Given the description of an element on the screen output the (x, y) to click on. 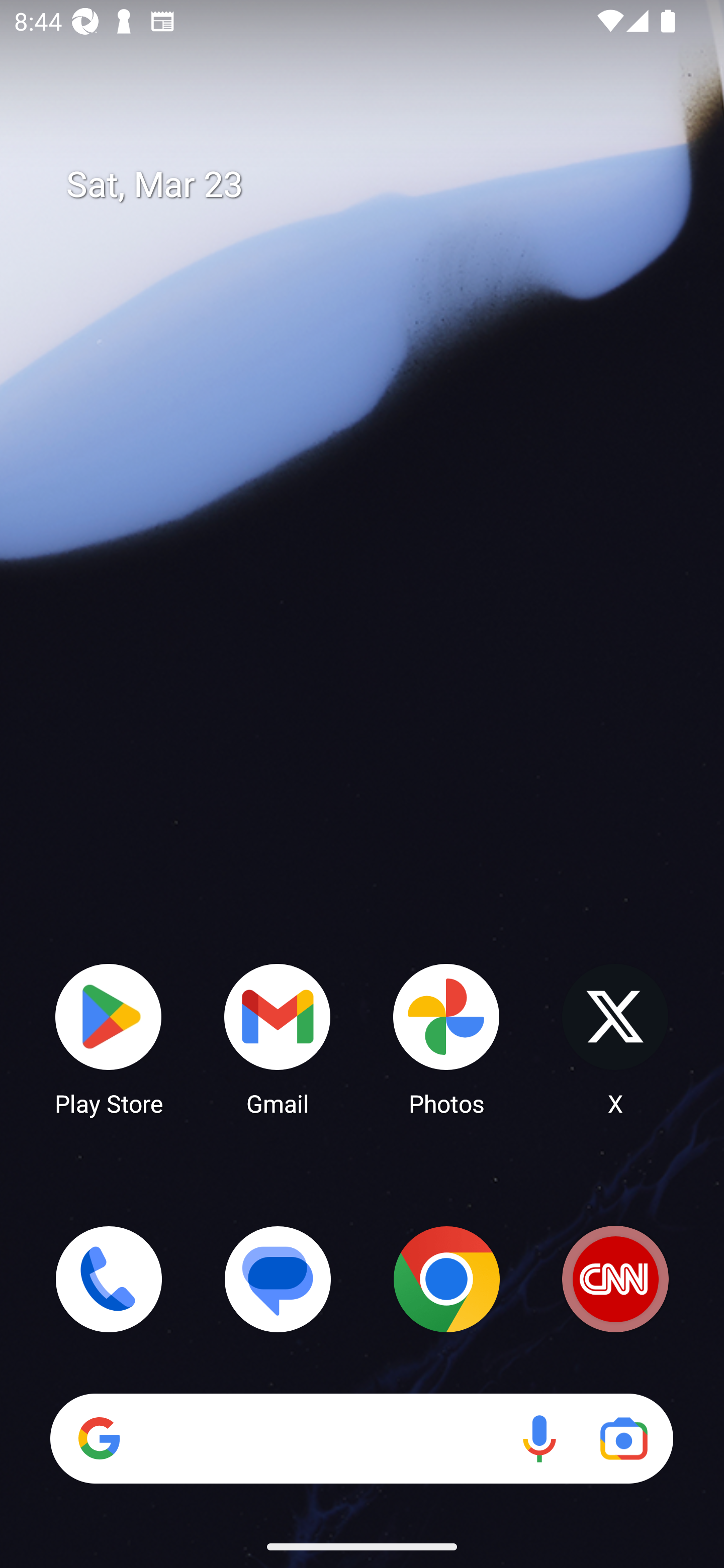
Sat, Mar 23 (375, 184)
Play Store (108, 1038)
Gmail (277, 1038)
Photos (445, 1038)
X (615, 1038)
Phone (108, 1279)
Messages (277, 1279)
Chrome (446, 1279)
CNN Predicted app: CNN (615, 1279)
Voice search (539, 1438)
Google Lens (623, 1438)
